Given the description of an element on the screen output the (x, y) to click on. 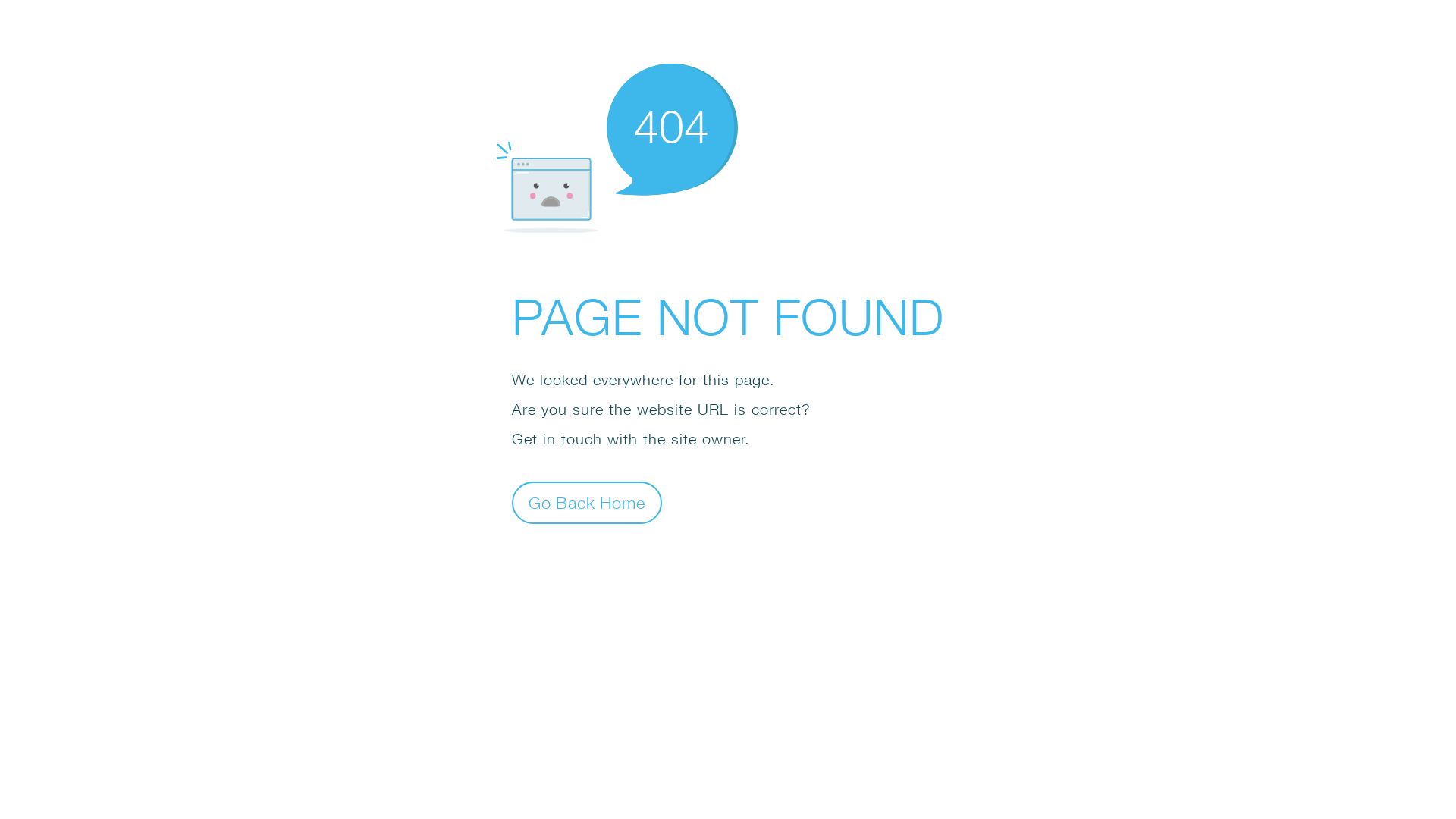
Go Back Home Element type: text (586, 502)
